Given the description of an element on the screen output the (x, y) to click on. 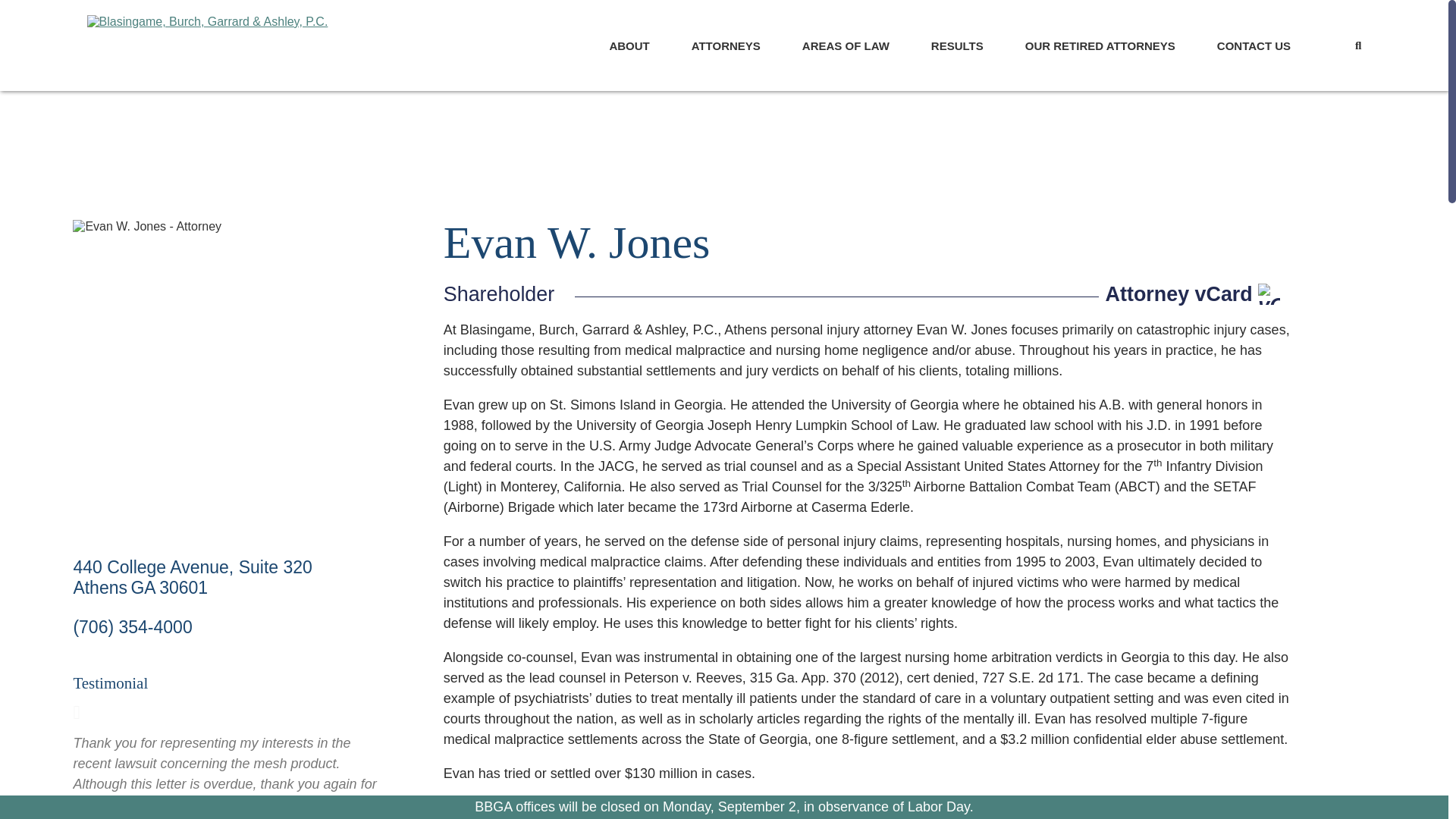
AREAS OF LAW (845, 45)
ABOUT (628, 45)
ATTORNEYS (725, 45)
